Given the description of an element on the screen output the (x, y) to click on. 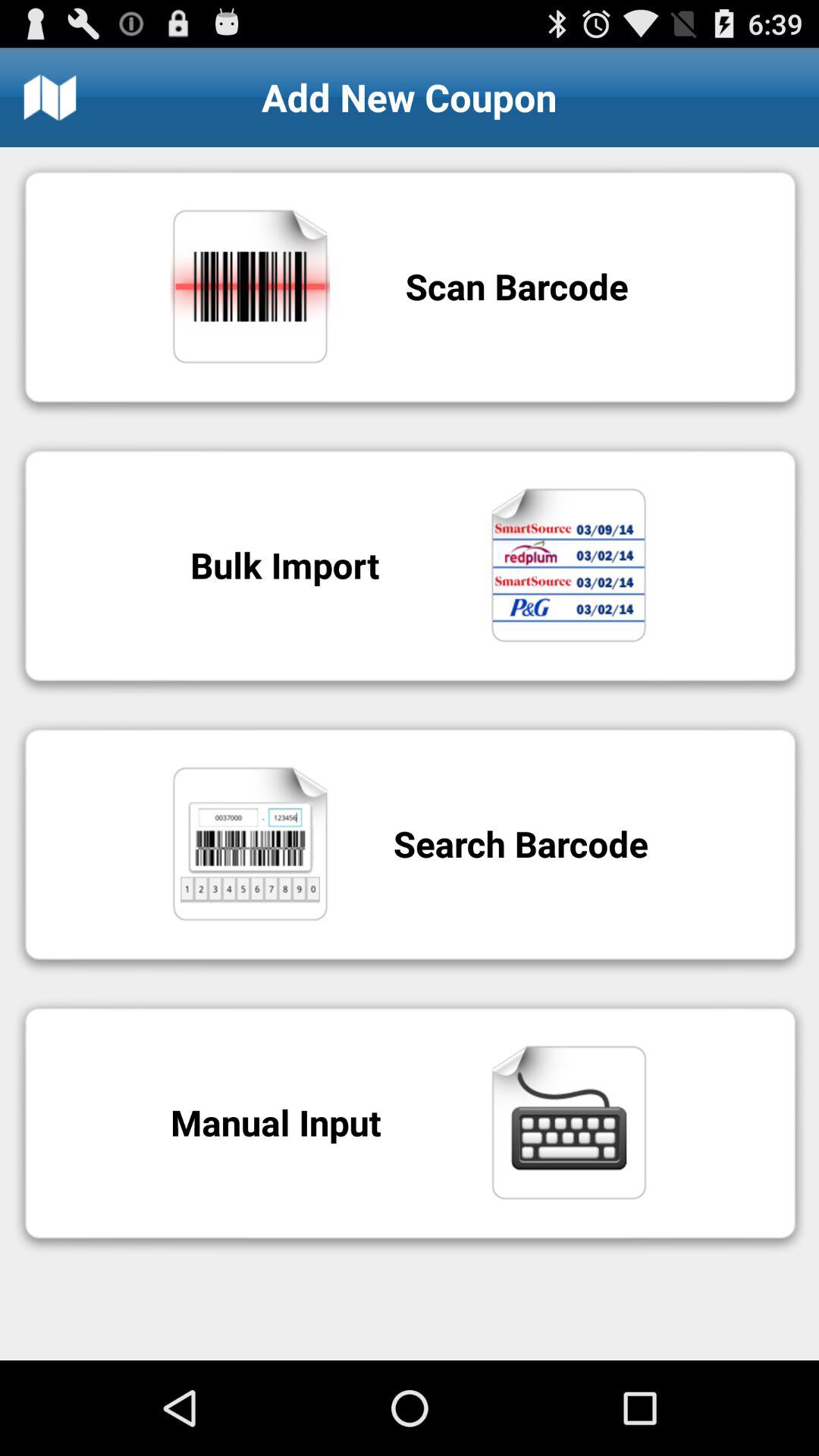
open the app next to add new coupon icon (49, 97)
